Given the description of an element on the screen output the (x, y) to click on. 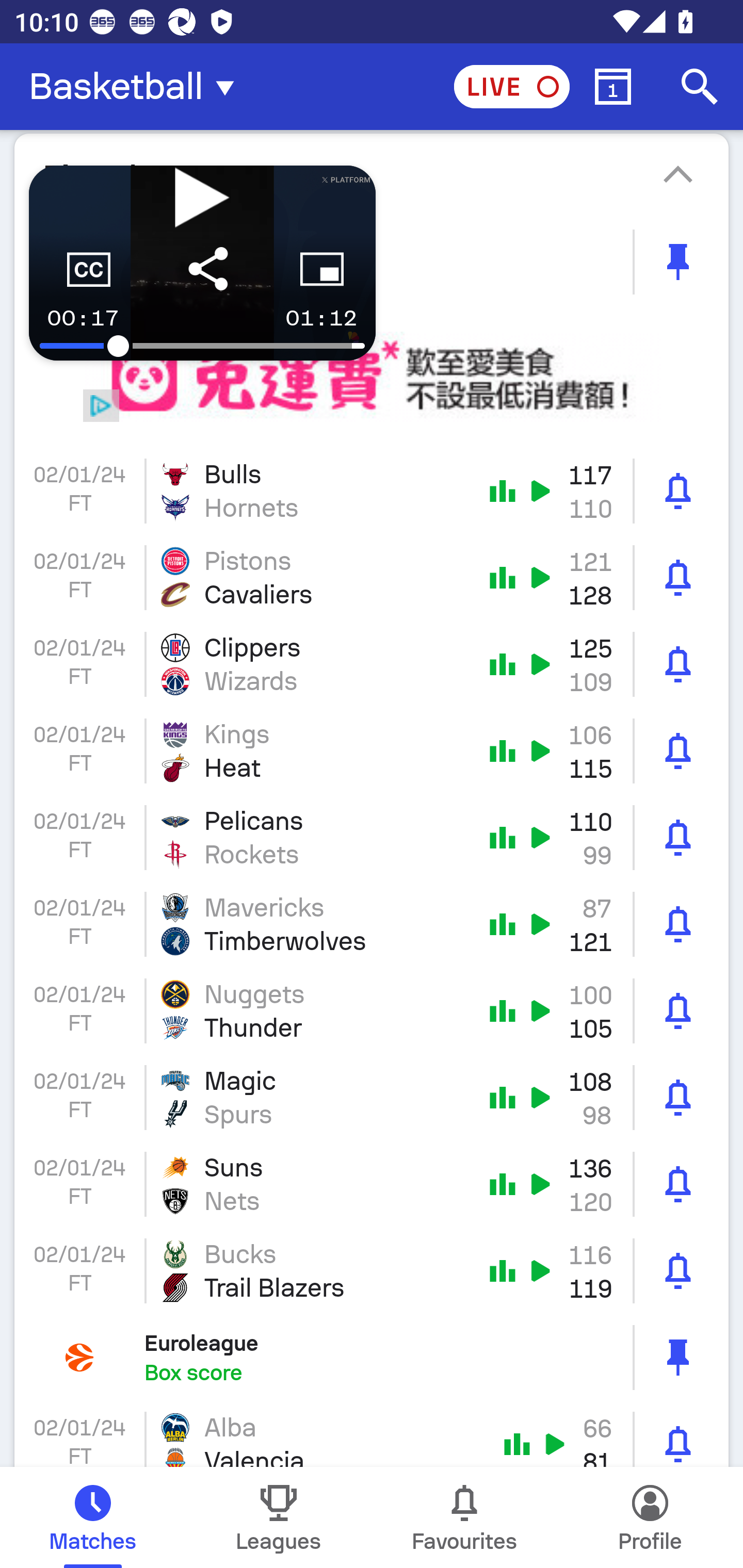
Basketball (137, 86)
Calendar (612, 86)
Search (699, 86)
02/01/24 FT Bulls Hornets 117 110 (371, 491)
02/01/24 FT Pistons Cavaliers 121 128 (371, 577)
02/01/24 FT Clippers Wizards 125 109 (371, 663)
02/01/24 FT Kings Heat 106 115 (371, 750)
02/01/24 FT Pelicans Rockets 110 99 (371, 837)
02/01/24 FT Mavericks Timberwolves 121 87 (371, 924)
02/01/24 FT Nuggets Thunder 100 105 (371, 1010)
02/01/24 FT Magic Spurs 108 98 (371, 1097)
02/01/24 FT Suns Nets 136 120 (371, 1184)
02/01/24 FT Bucks Trail Blazers 116 119 (371, 1270)
Euroleague Box score (371, 1356)
02/01/24 FT Alba Valencia 66 81 (371, 1433)
Leagues (278, 1517)
Favourites (464, 1517)
Profile (650, 1517)
